Given the description of an element on the screen output the (x, y) to click on. 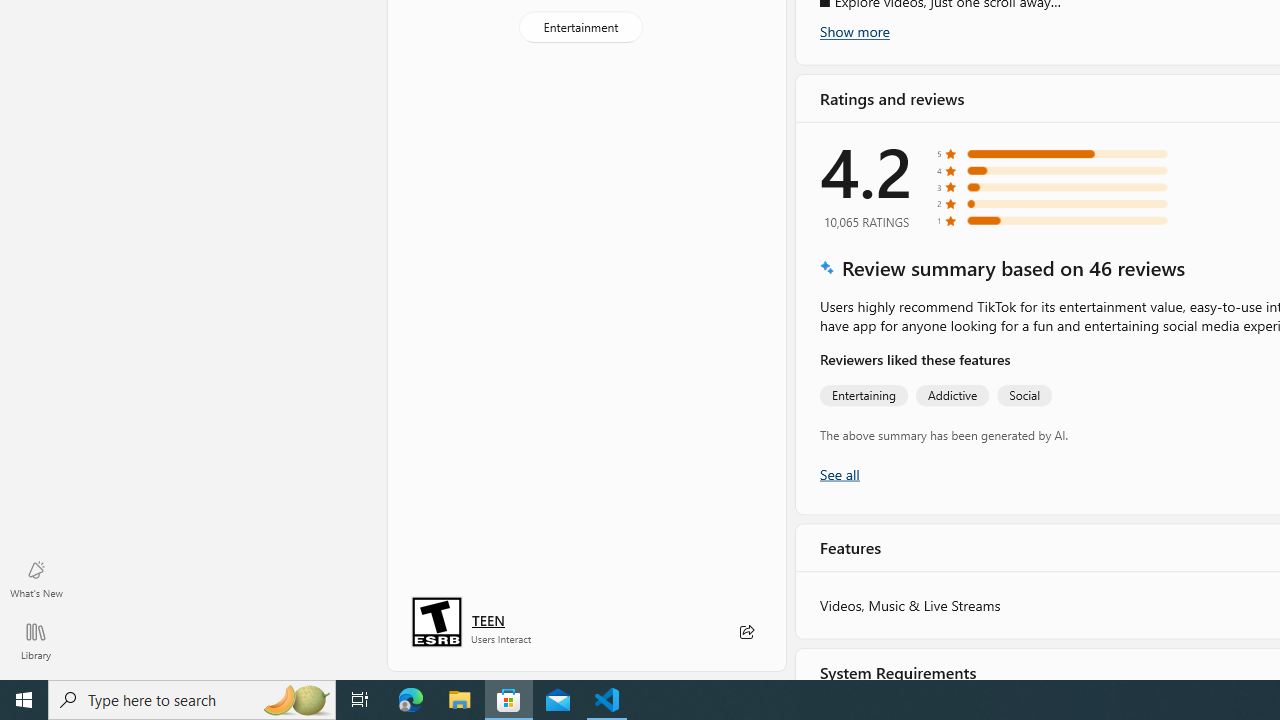
What's New (35, 578)
Library (35, 640)
Age rating: TEEN. Click for more information. (488, 619)
Entertainment (580, 26)
Show more (854, 31)
Show all ratings and reviews (838, 472)
Share (746, 632)
